Given the description of an element on the screen output the (x, y) to click on. 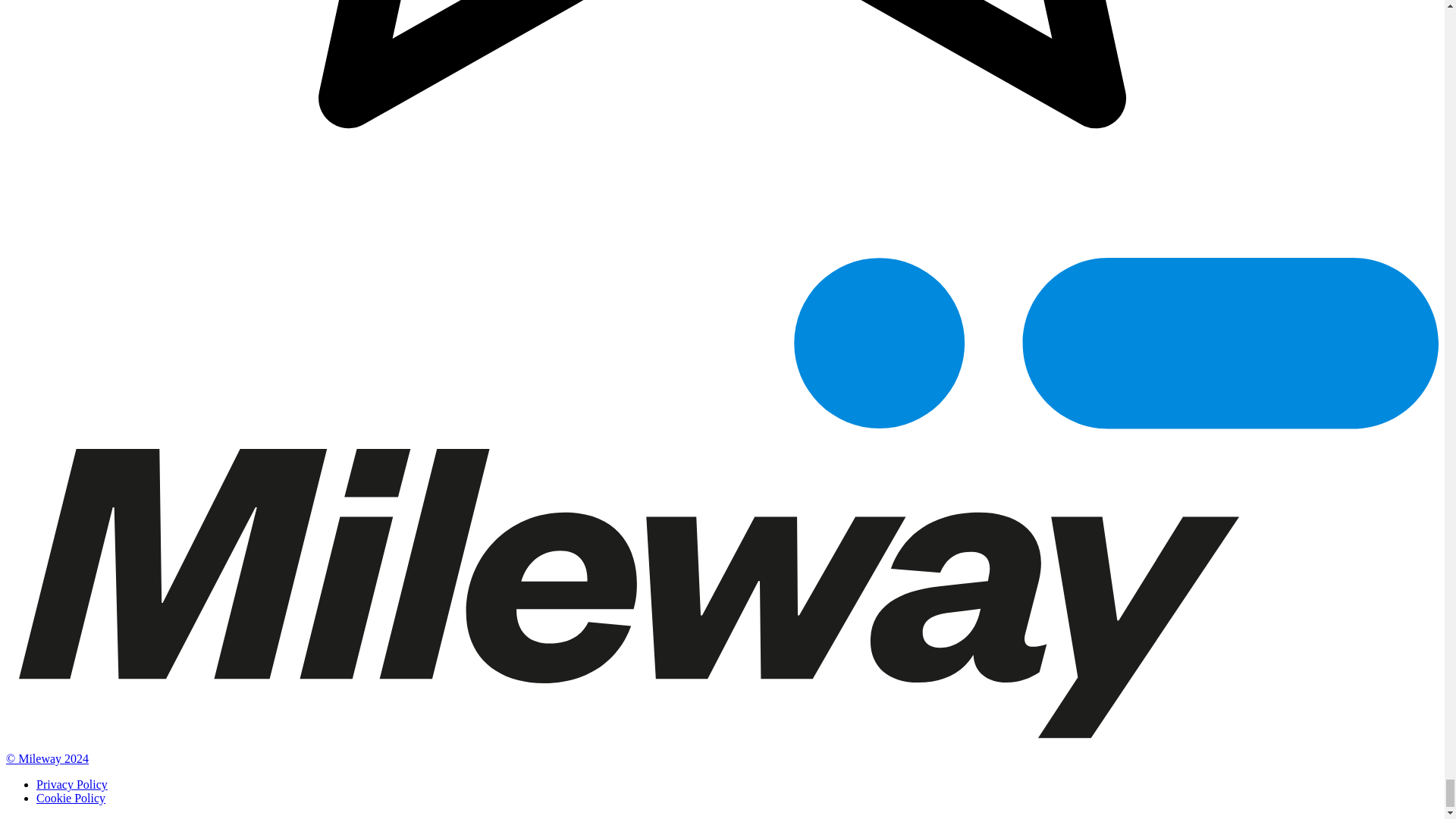
Cookie Policy (70, 797)
Privacy Policy (71, 784)
